Given the description of an element on the screen output the (x, y) to click on. 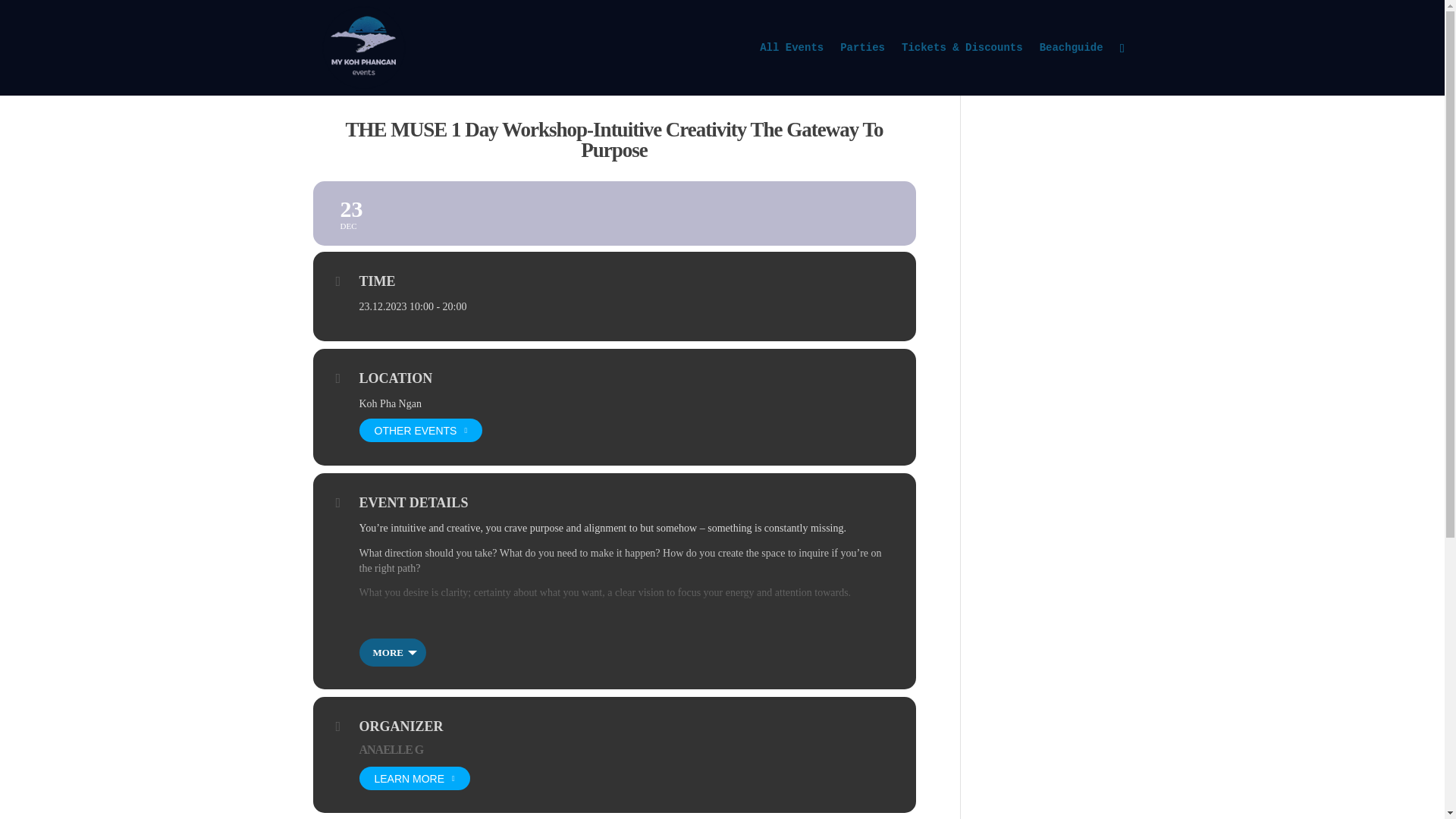
All Events (613, 212)
ANAELLE G (792, 68)
LEARN MORE (391, 748)
Beachguide (414, 778)
